Given the description of an element on the screen output the (x, y) to click on. 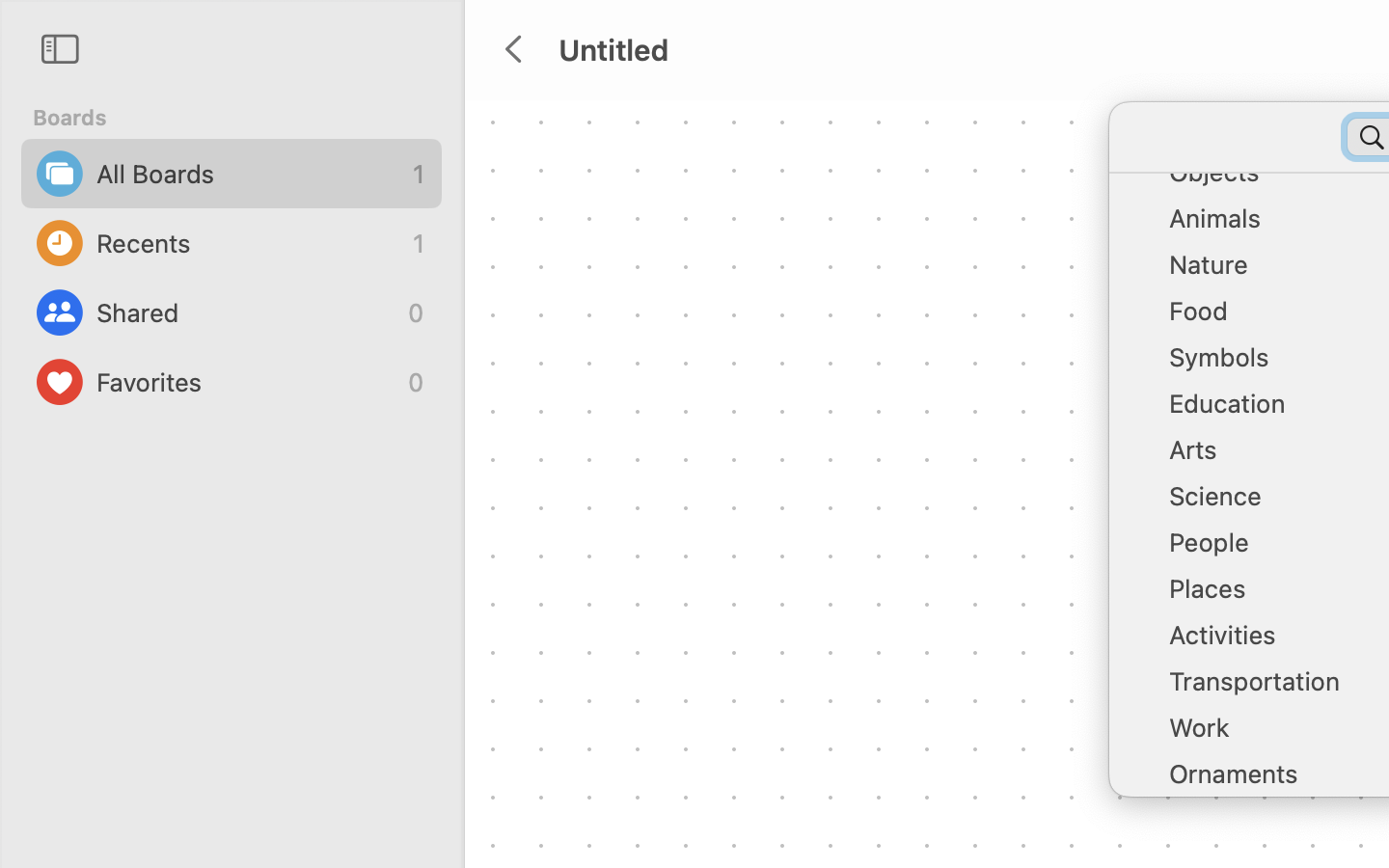
Objects Element type: AXStaticText (1273, 179)
Work Element type: AXStaticText (1273, 734)
Geometry Element type: AXStaticText (1273, 132)
Transportation Element type: AXStaticText (1273, 688)
